Given the description of an element on the screen output the (x, y) to click on. 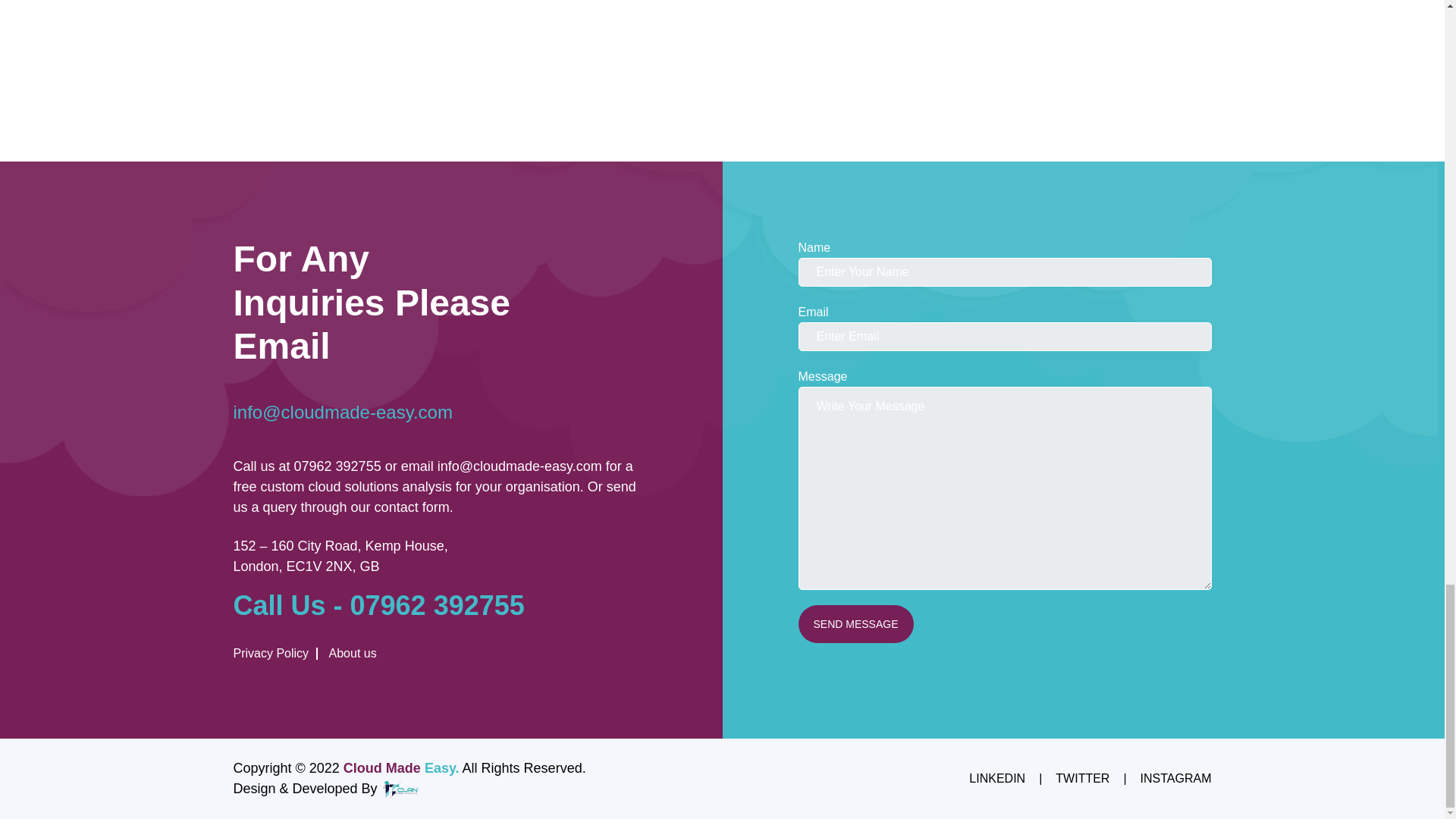
About us (349, 653)
TWITTER (1082, 778)
Privacy Policy (275, 653)
LINKEDIN (997, 778)
Send Message (854, 623)
Send Message (854, 623)
